Given the description of an element on the screen output the (x, y) to click on. 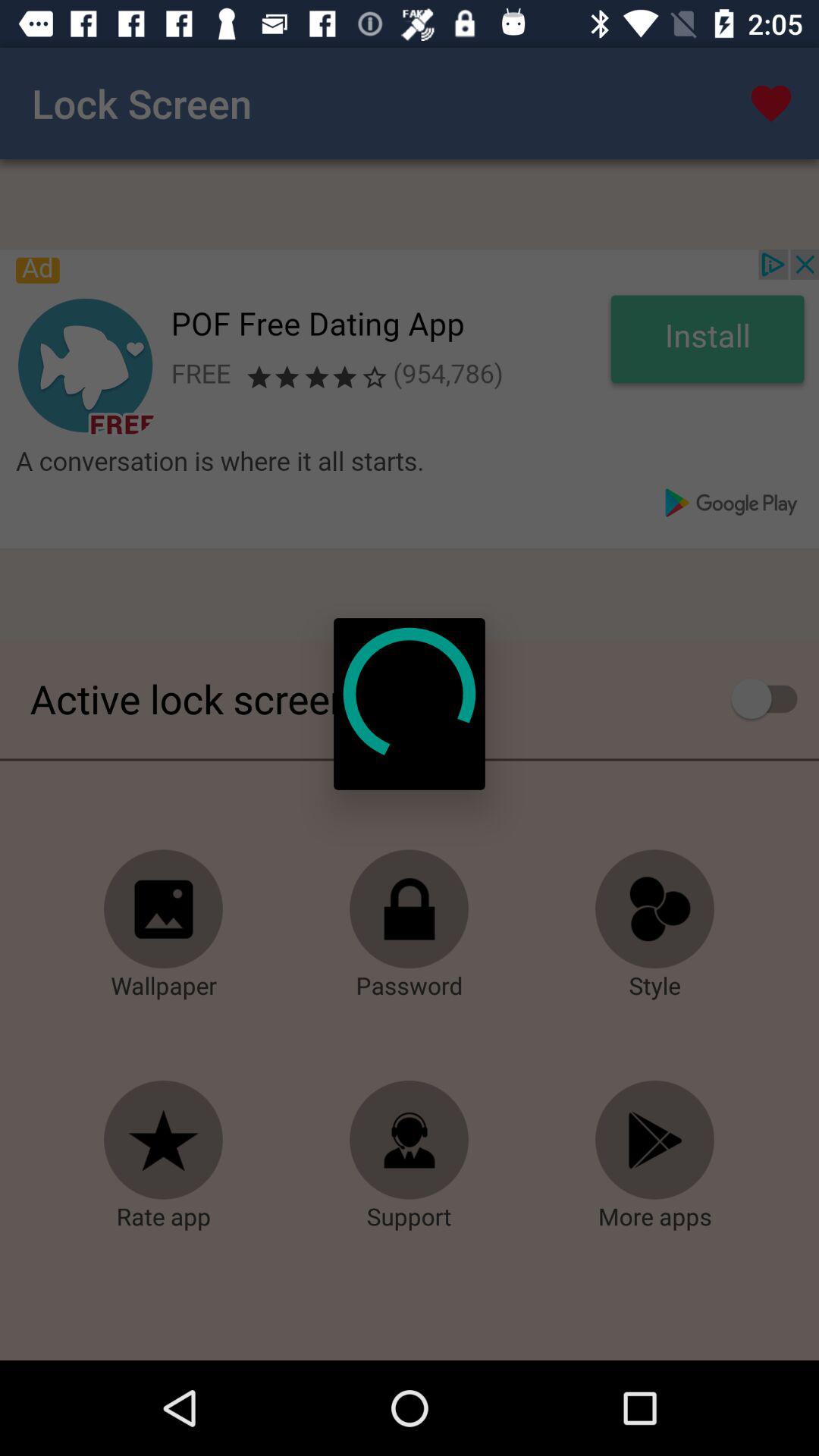
opens a page to rate the app (163, 1140)
